Given the description of an element on the screen output the (x, y) to click on. 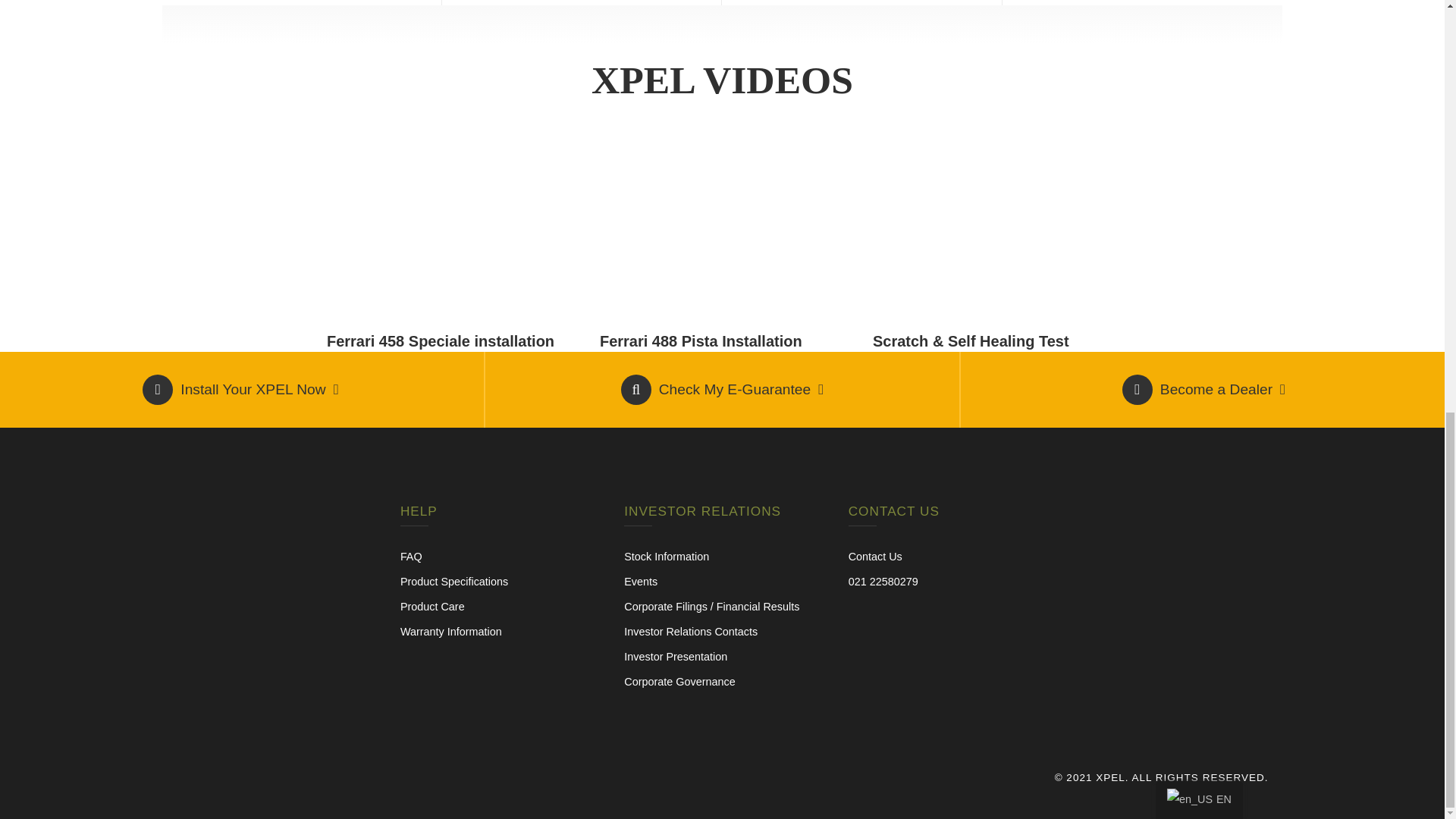
YouTube video player (721, 229)
YouTube video player (449, 229)
Product Care (432, 606)
Events (641, 581)
FAQ (411, 556)
Product Specifications (454, 581)
YouTube video player (995, 229)
Stock Information (666, 556)
Install Your XPEL Now (240, 389)
Warranty Information (451, 631)
